Given the description of an element on the screen output the (x, y) to click on. 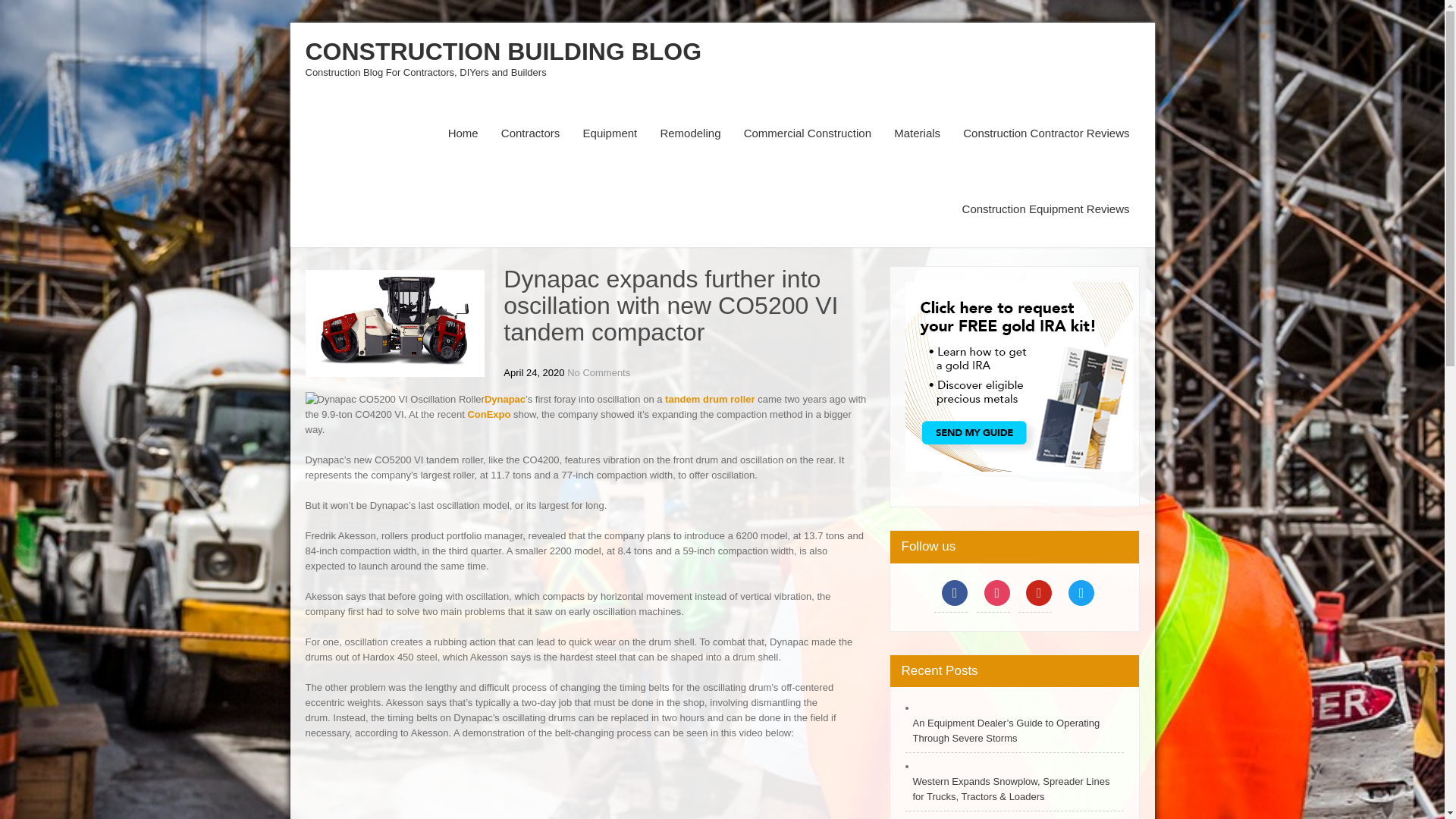
Dynapac intros updated small tandem Asphalt Roller CC950 (504, 398)
Remodeling (689, 133)
Dynapac (504, 398)
Facebook (951, 592)
ConExpo (489, 414)
CONSTRUCTION BUILDING BLOG (502, 51)
facebook (951, 592)
twitter (1077, 592)
No Comments (598, 372)
